Given the description of an element on the screen output the (x, y) to click on. 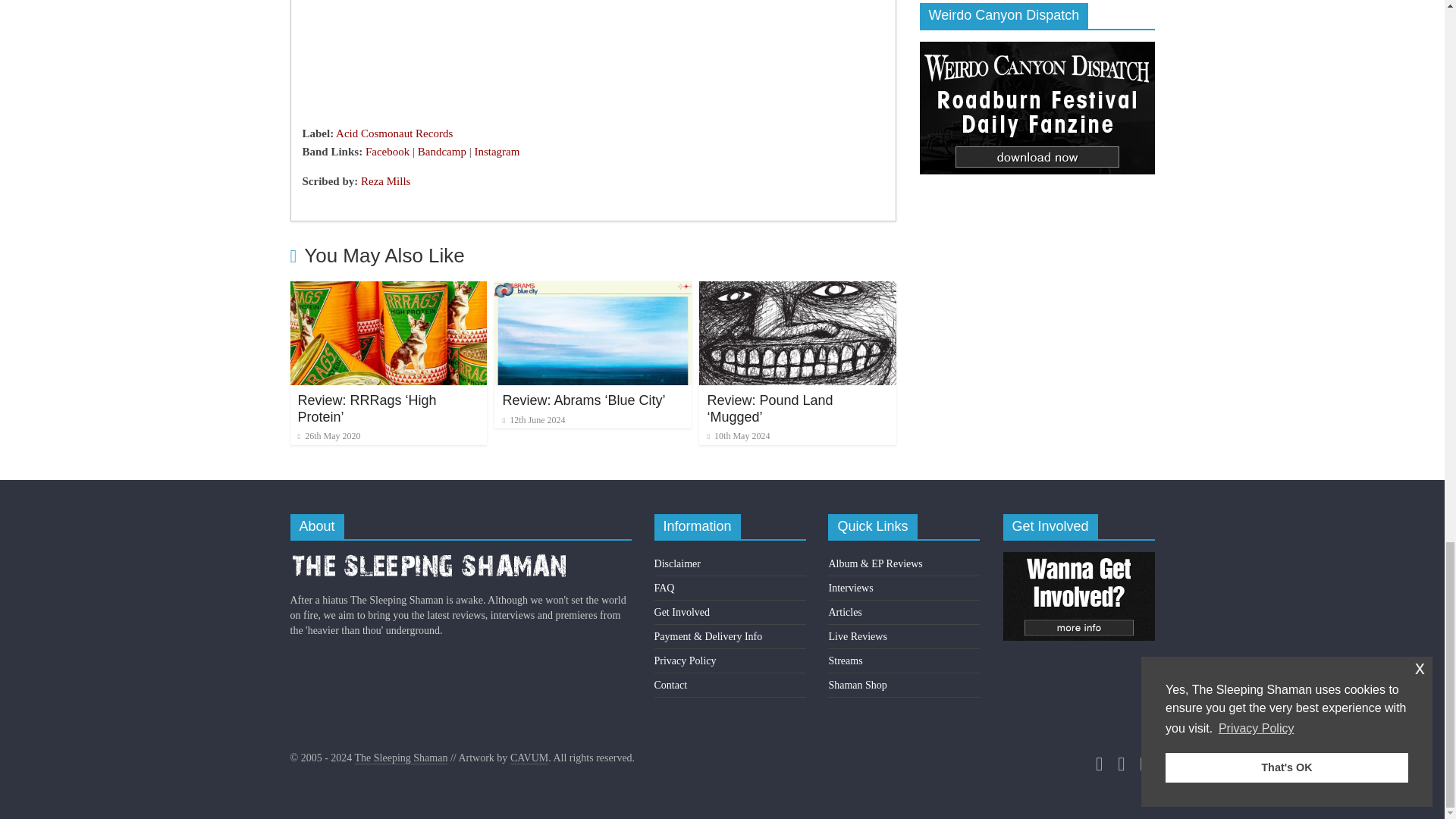
12:00 pm (328, 435)
